Given the description of an element on the screen output the (x, y) to click on. 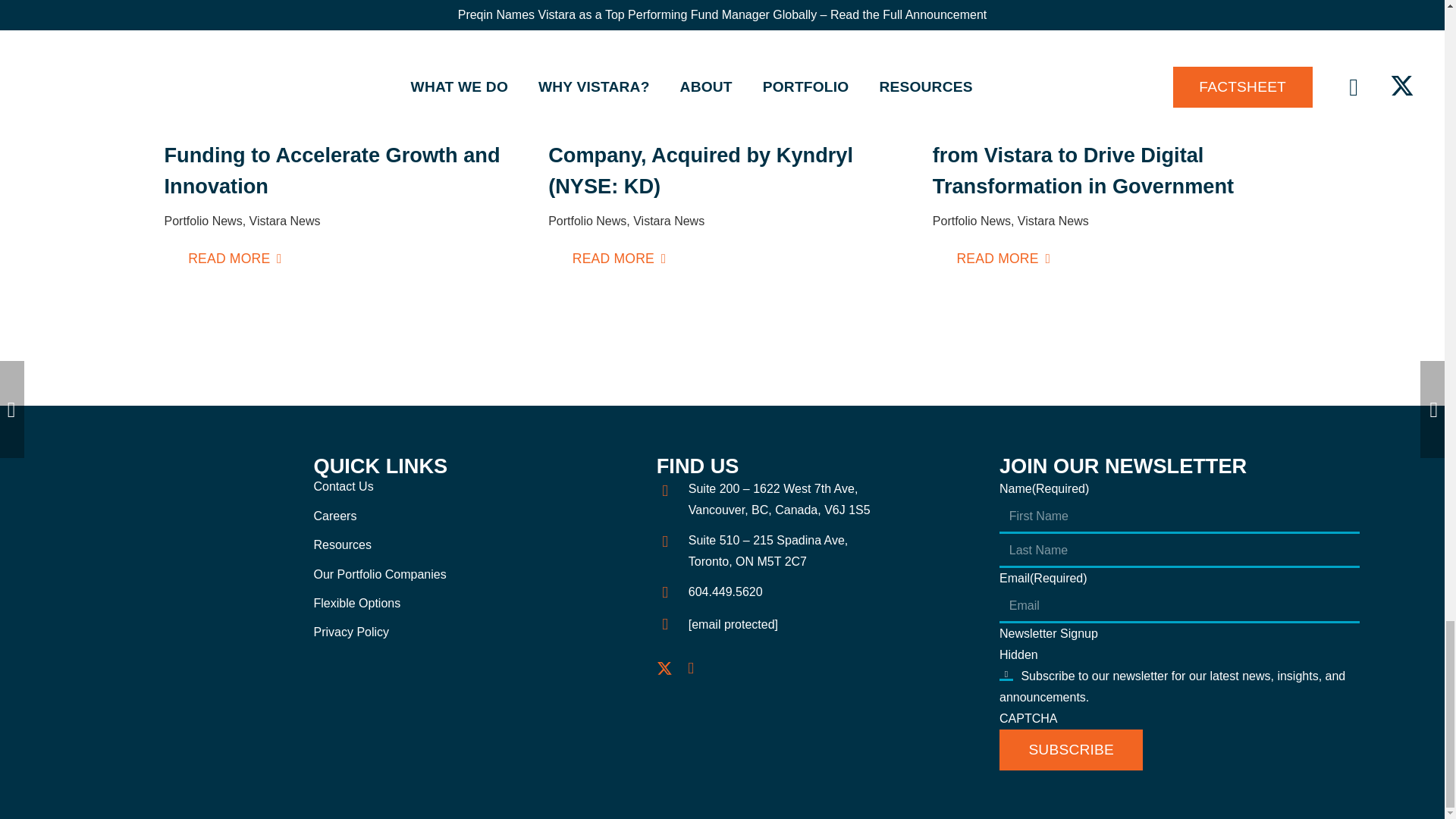
Twitter (664, 669)
Subscribe (1070, 749)
